Given the description of an element on the screen output the (x, y) to click on. 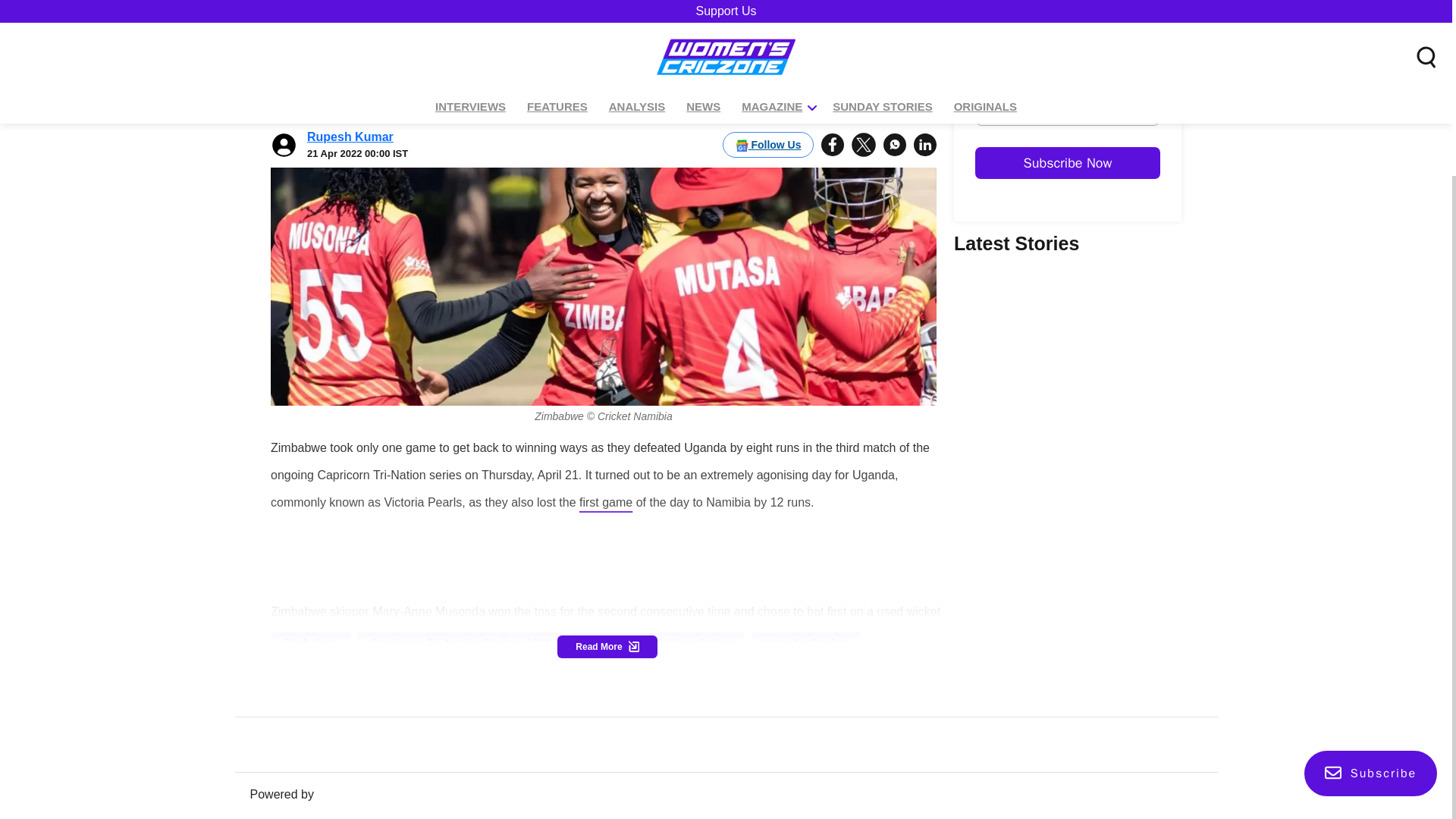
Uganda (455, 668)
Read More (606, 645)
Capricorn Tri-Nation Series, 2022 (461, 642)
Uganda Cricket (806, 642)
Capricorn Tri-Nation Series (657, 642)
Zimbabwe (311, 642)
Follow Us (767, 71)
Chipo Mugeri-Tiripano (343, 668)
Subscribe Now (1185, 206)
first game (605, 501)
Rupesh Kumar (350, 63)
